Given the description of an element on the screen output the (x, y) to click on. 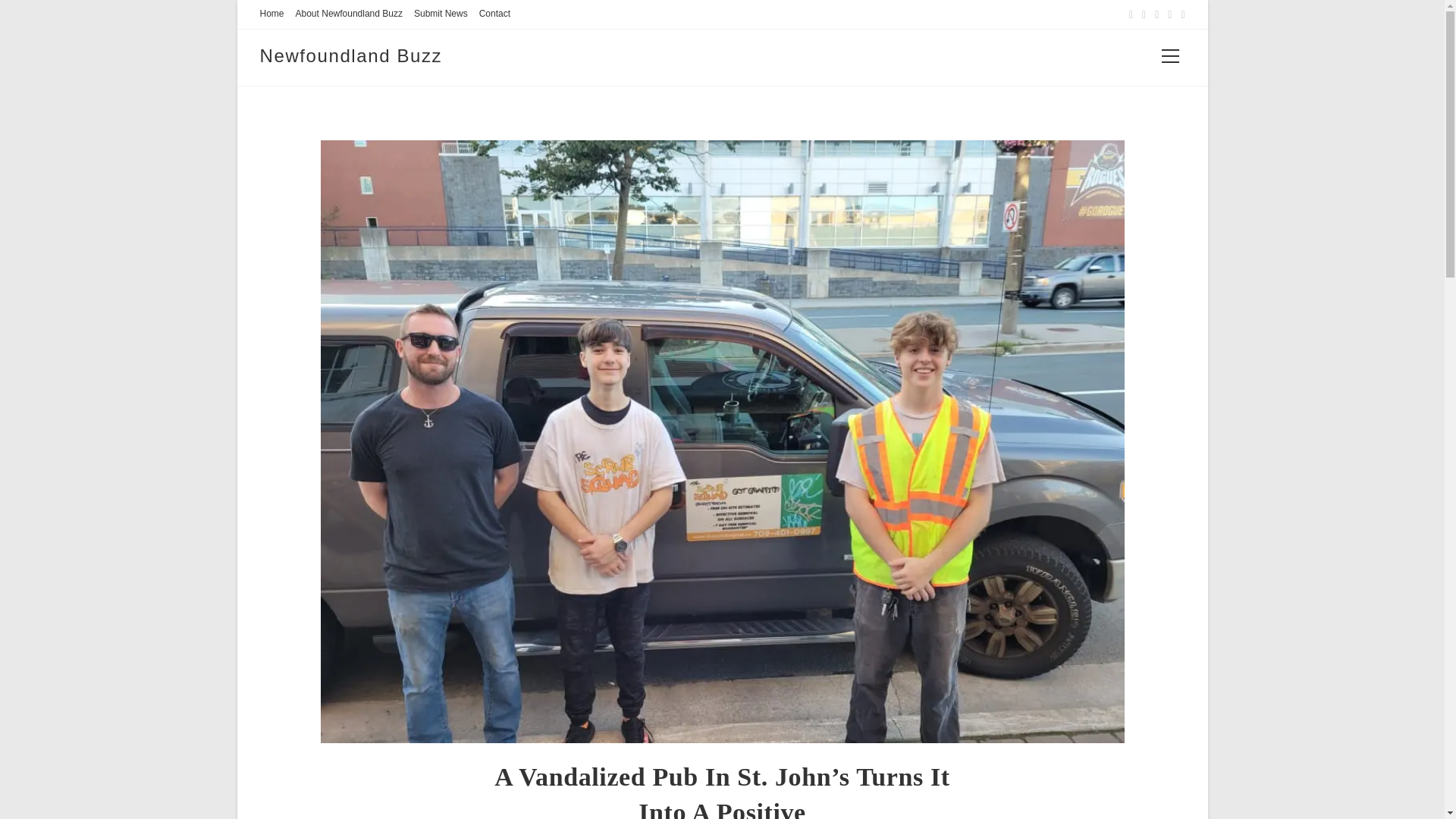
Newfoundland Buzz (350, 55)
Home (271, 13)
Contact (495, 13)
Submit News (440, 13)
View website Menu (1170, 57)
About Newfoundland Buzz (349, 13)
